Given the description of an element on the screen output the (x, y) to click on. 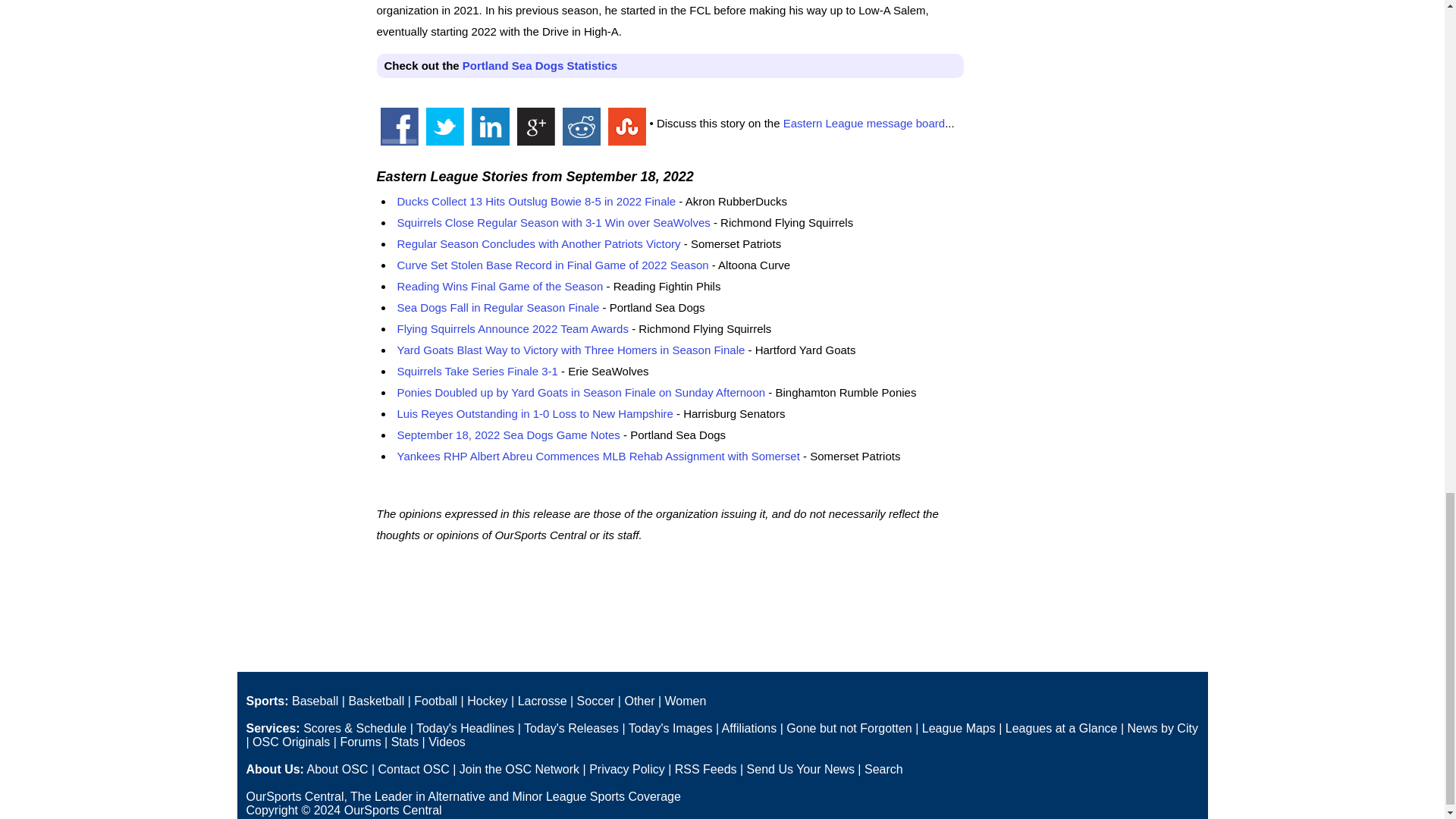
Privacy Policy (627, 768)
Gone but not Forgotten (848, 727)
RSS Feeds (705, 768)
News by City (1162, 727)
Join the OSC Network (519, 768)
About OSC (336, 768)
Forums (359, 741)
Today's Images (670, 727)
Affiliations (749, 727)
Portland Sea Dogs Statistics (540, 65)
